Given the description of an element on the screen output the (x, y) to click on. 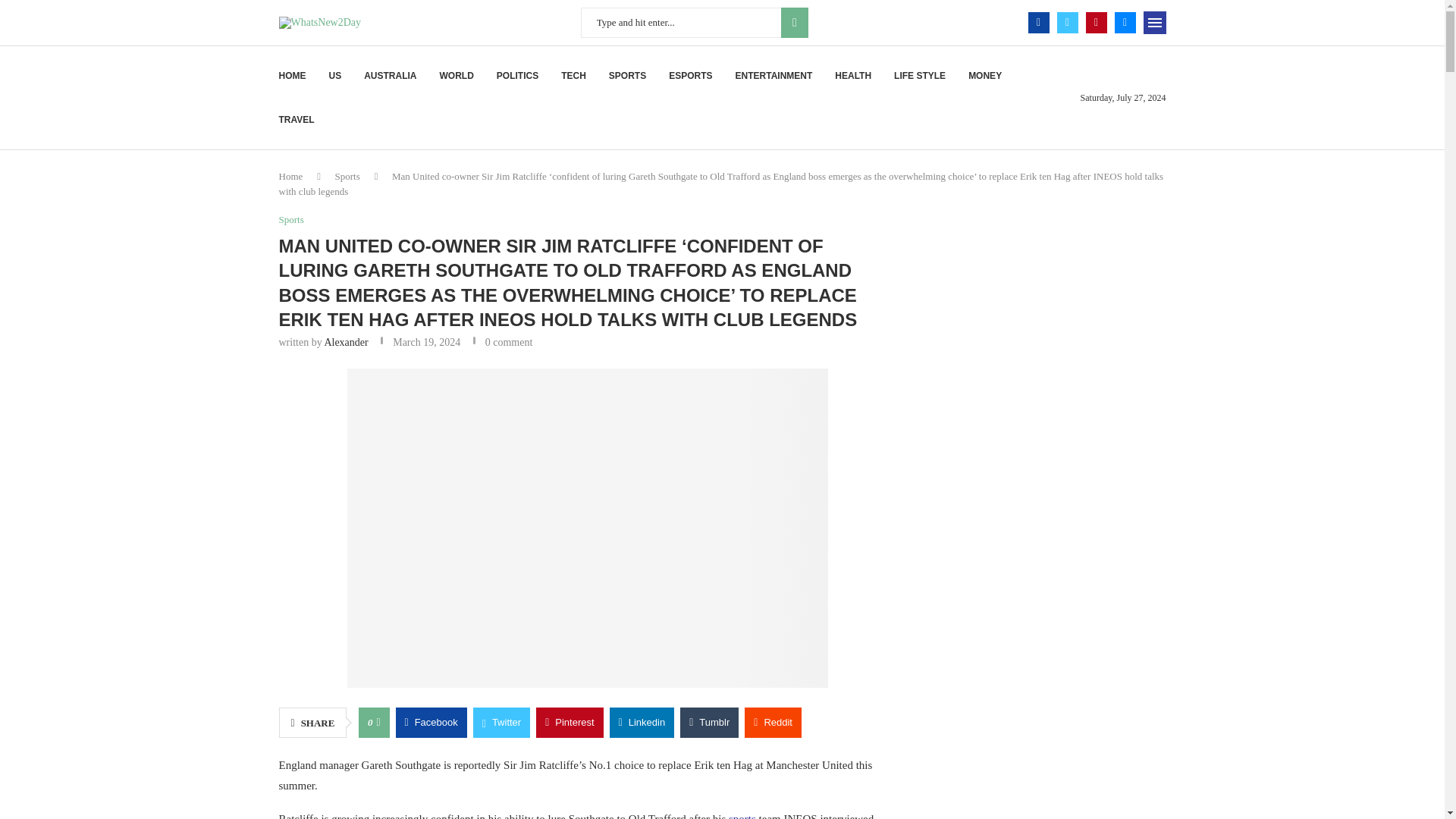
ENTERTAINMENT (773, 75)
POLITICS (517, 75)
SEARCH (794, 22)
ESPORTS (689, 75)
LIFE STYLE (918, 75)
AUSTRALIA (390, 75)
